Given the description of an element on the screen output the (x, y) to click on. 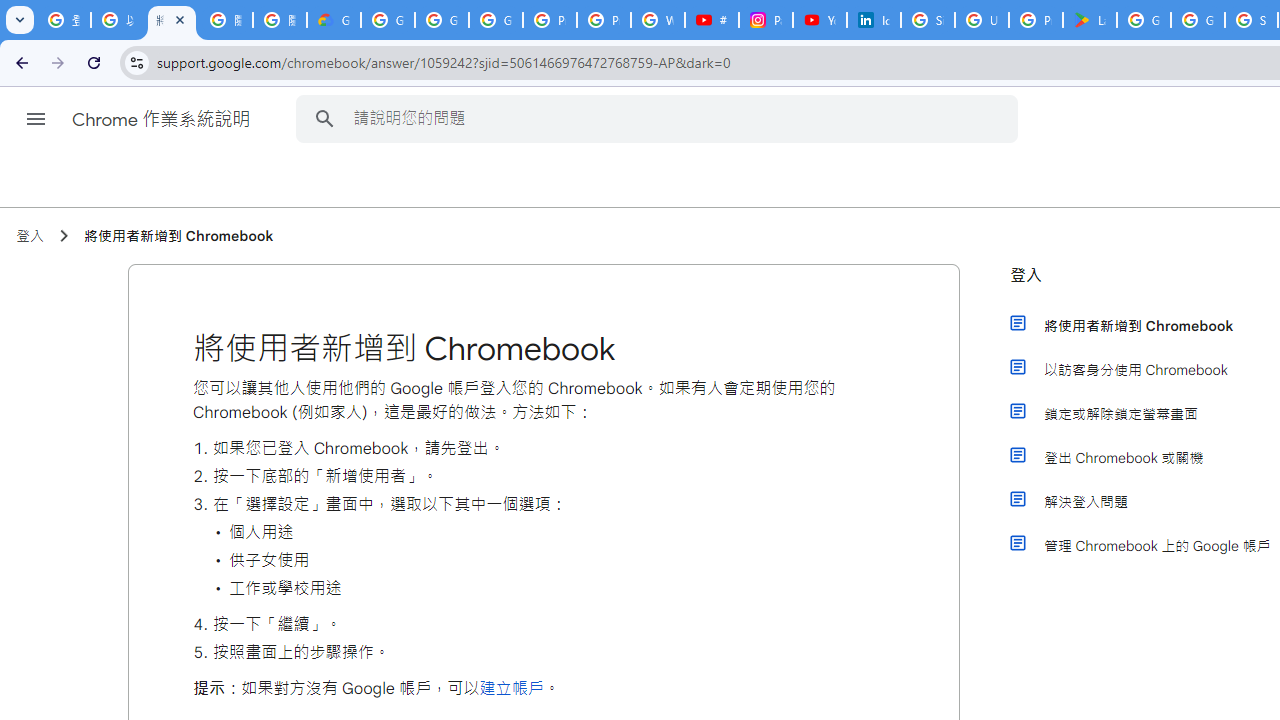
Last Shelter: Survival - Apps on Google Play (1089, 20)
Sign in - Google Accounts (927, 20)
Privacy Help Center - Policies Help (604, 20)
